Given the description of an element on the screen output the (x, y) to click on. 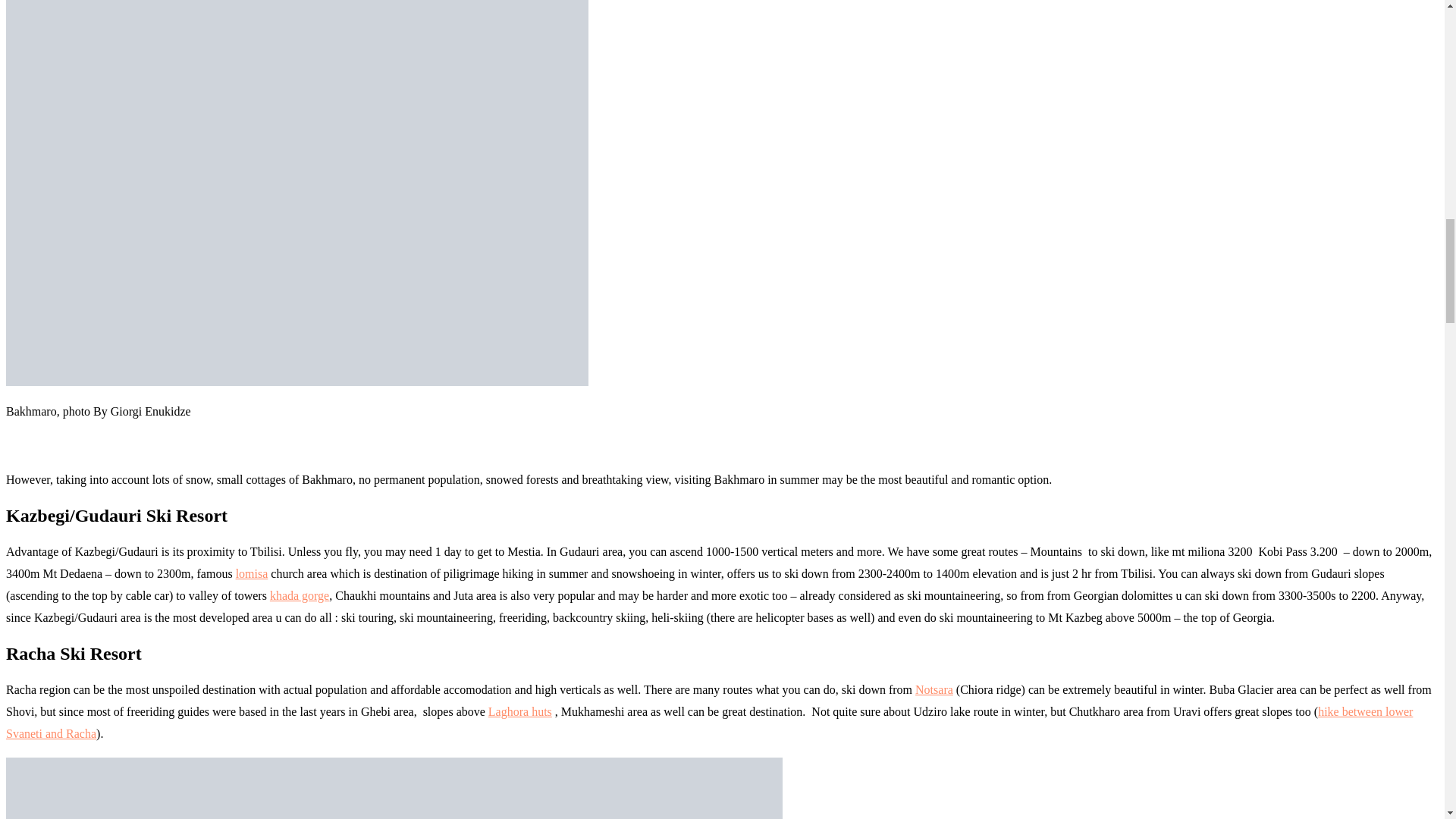
Notsara (934, 689)
khada gorge (299, 594)
Laghora huts (519, 711)
hike between lower Svaneti and Racha (708, 722)
lomisa (251, 573)
